Given the description of an element on the screen output the (x, y) to click on. 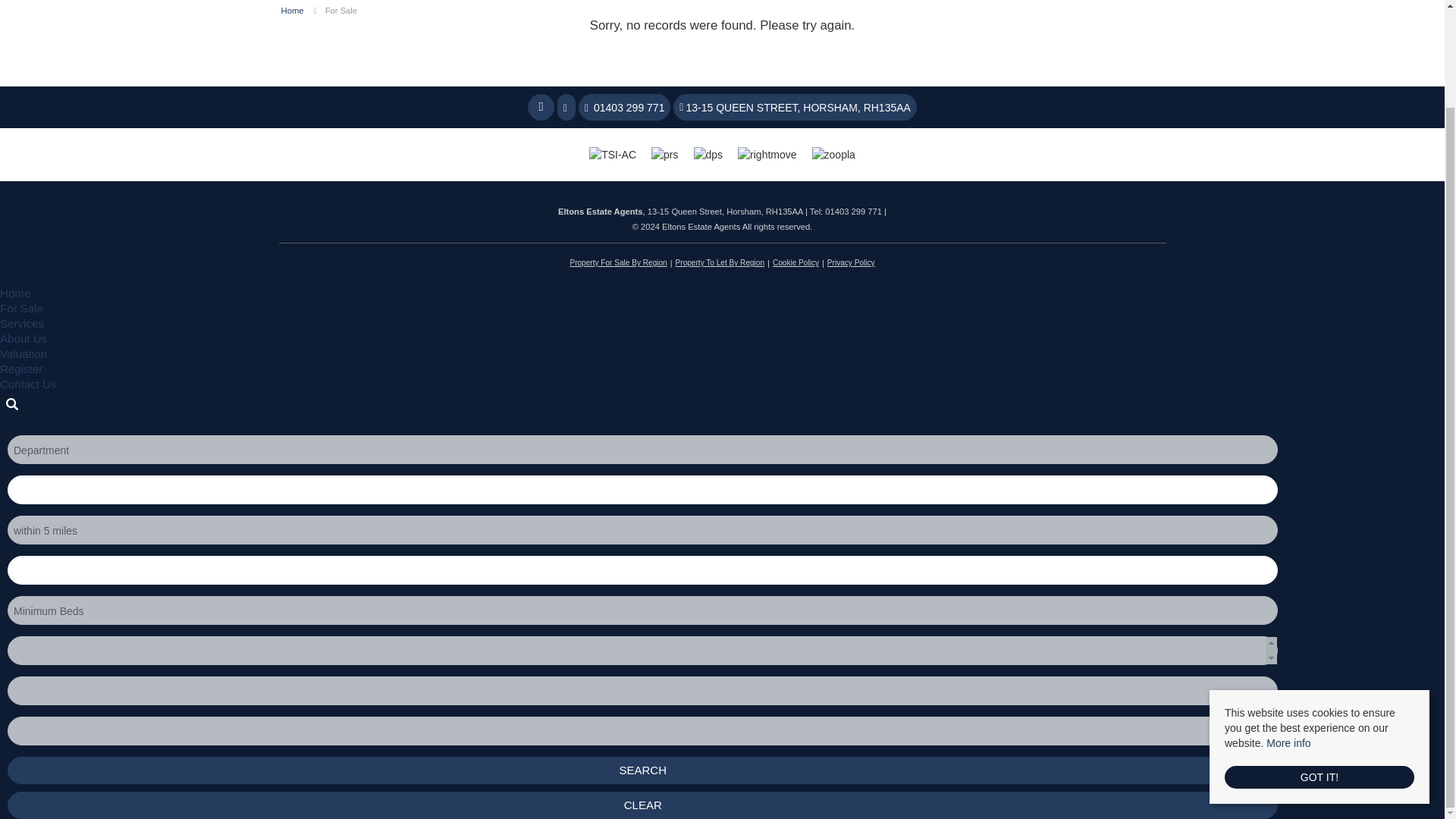
Cookie Policy (796, 263)
Property For Sale By Region (617, 263)
SEARCH (642, 769)
GOT IT! (1318, 664)
Home (292, 10)
Privacy Policy (850, 263)
For Sale (340, 10)
Property To Let By Region (719, 263)
More info (1288, 630)
